Given the description of an element on the screen output the (x, y) to click on. 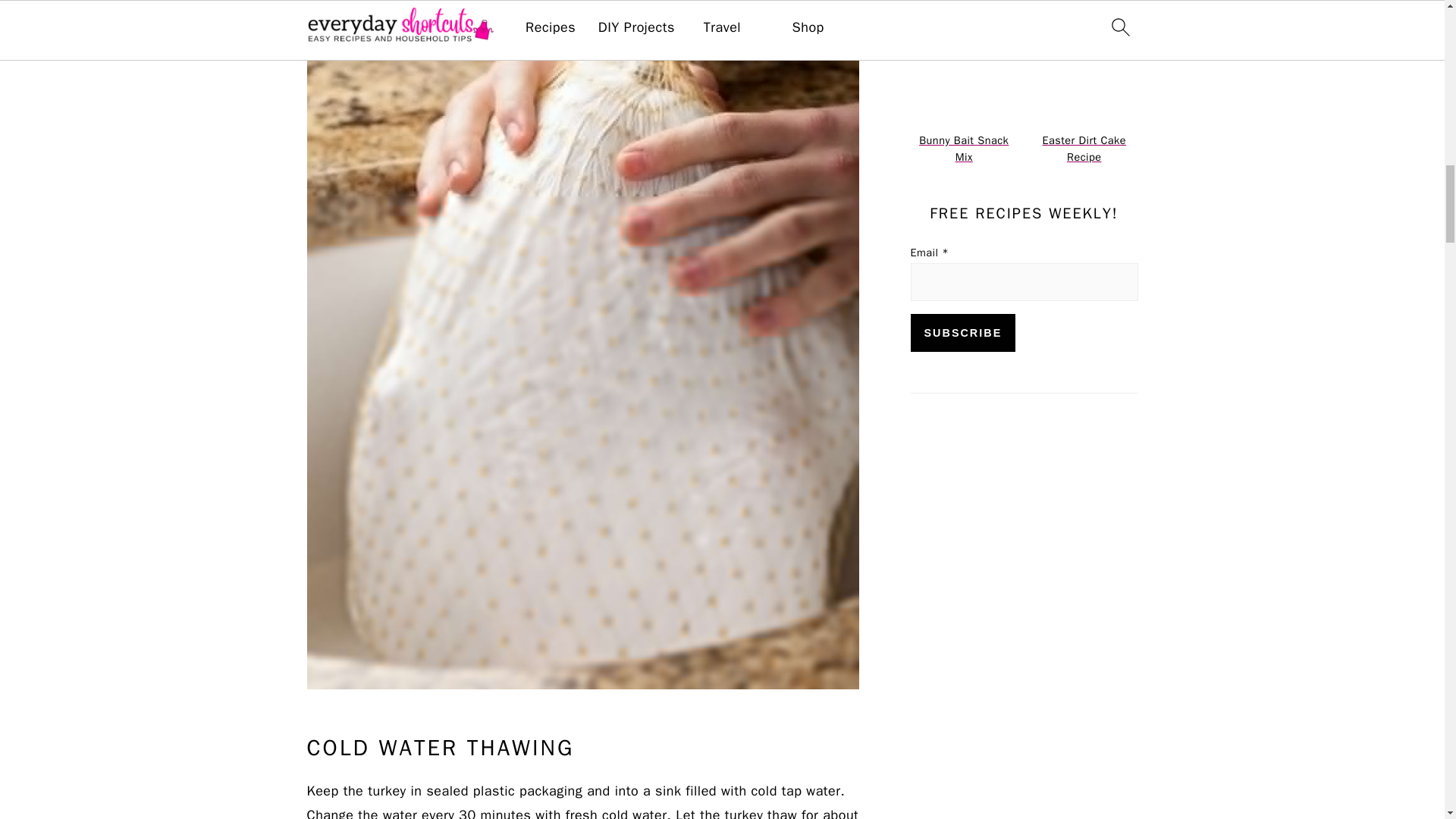
Subscribe (962, 332)
